Given the description of an element on the screen output the (x, y) to click on. 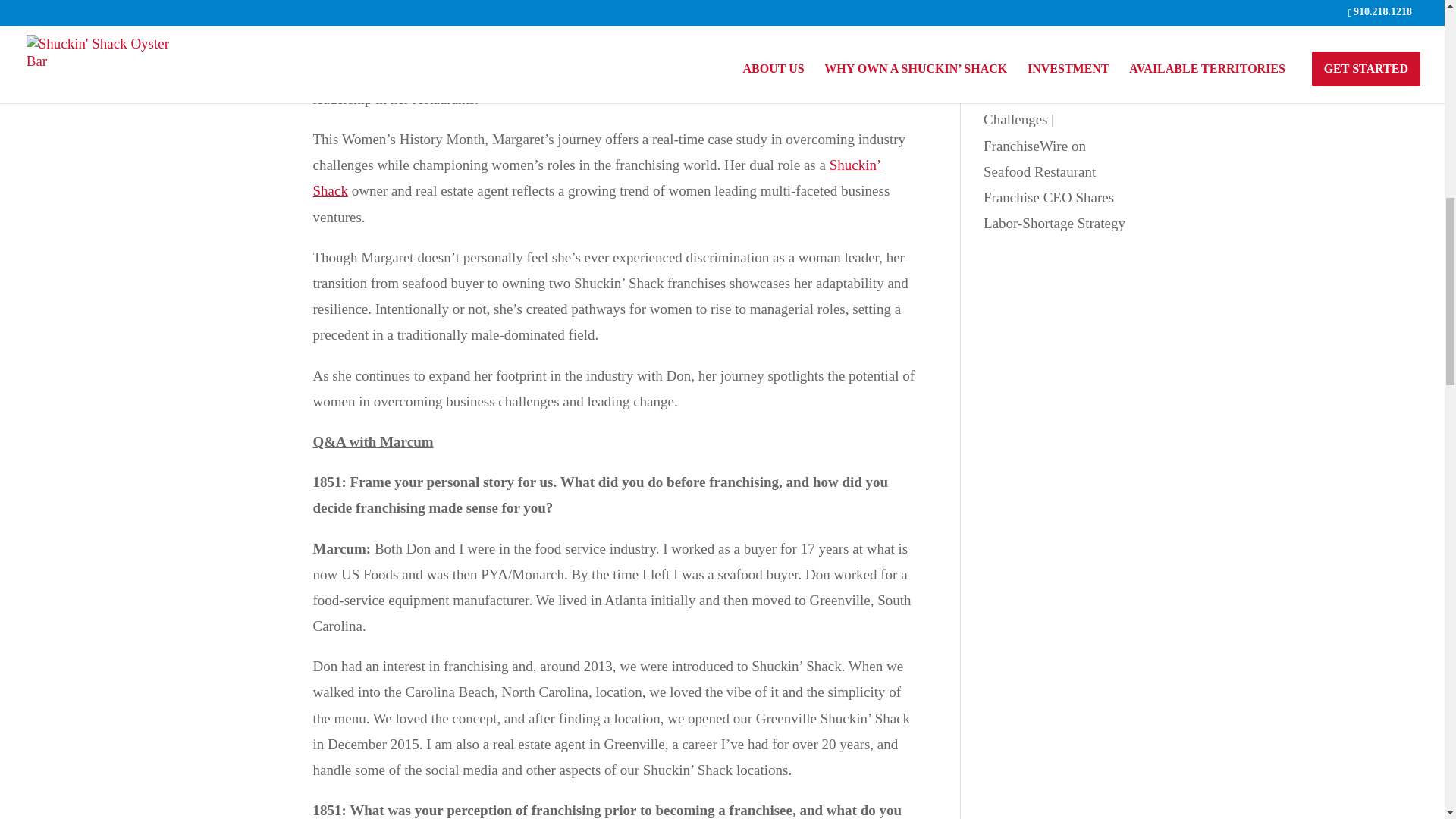
Margaret Marcum  (607, 33)
Don (698, 47)
are owned by women (593, 20)
number is growing fast (774, 20)
